Given the description of an element on the screen output the (x, y) to click on. 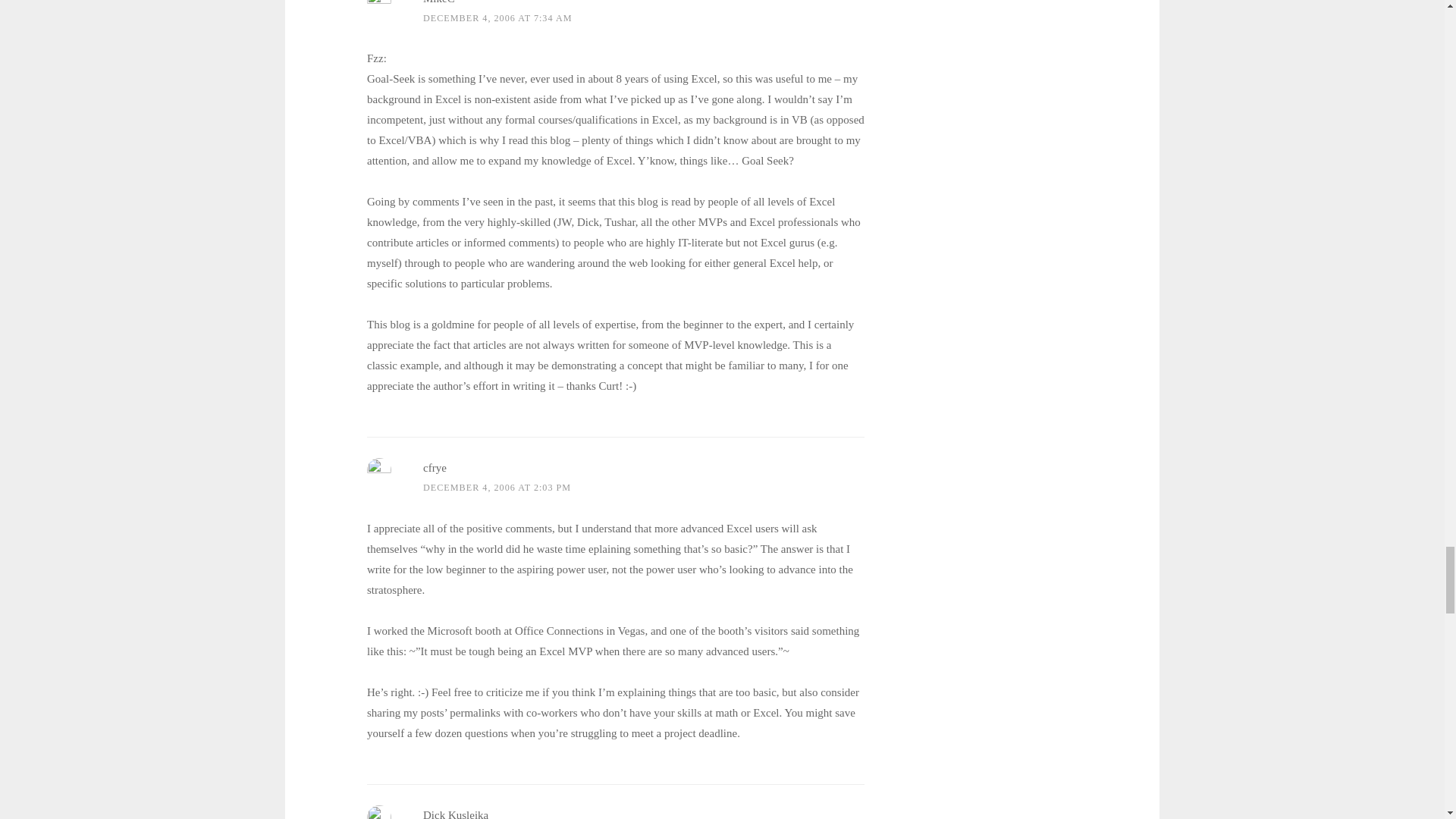
DECEMBER 4, 2006 AT 7:34 AM (497, 18)
Dick Kusleika (455, 814)
cfrye (434, 467)
DECEMBER 4, 2006 AT 2:03 PM (496, 487)
